Given the description of an element on the screen output the (x, y) to click on. 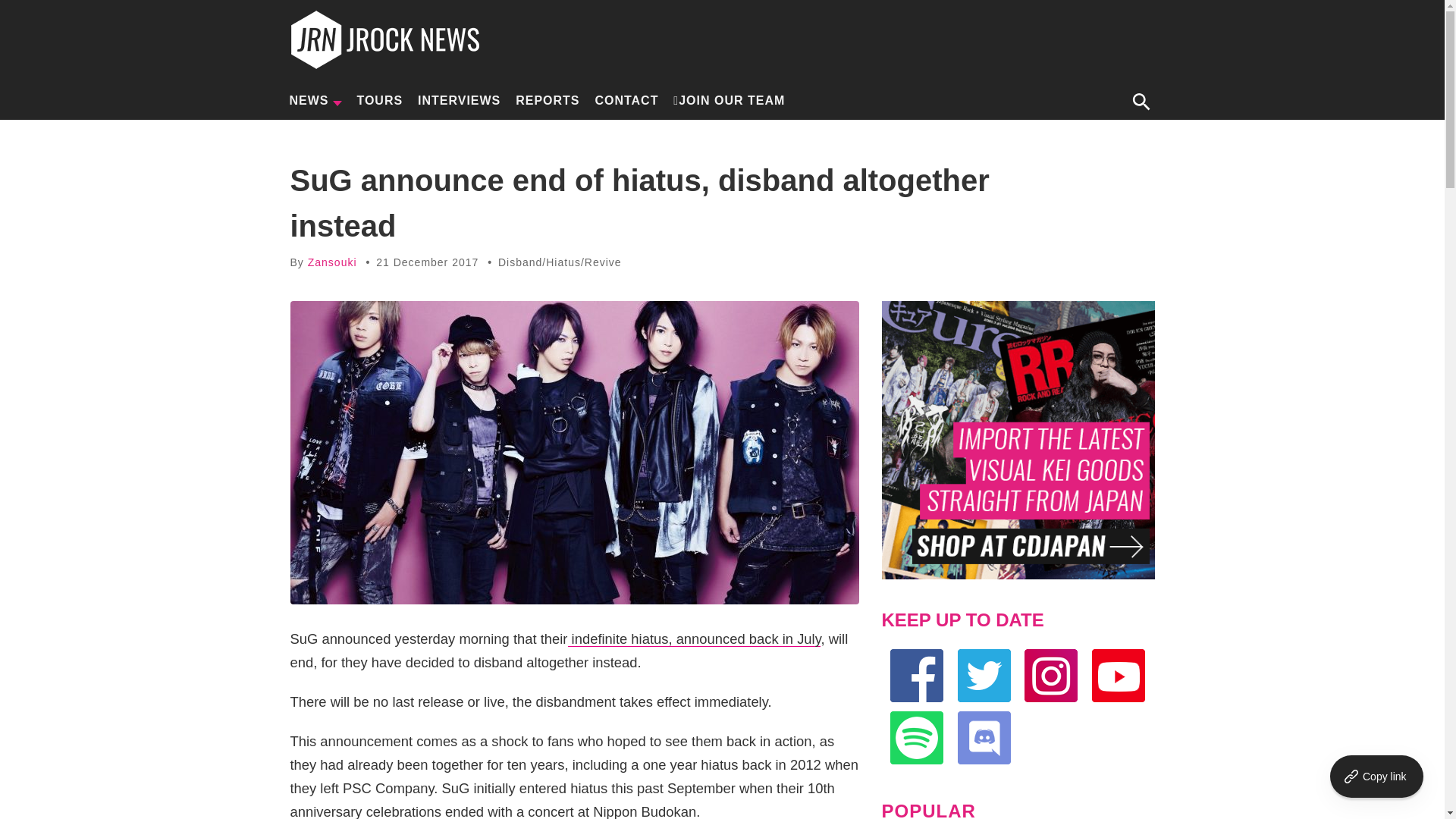
Posts by Zansouki (331, 262)
CONTACT (626, 100)
INTERVIEWS (458, 100)
NEWS (314, 100)
REPORTS (547, 100)
indefinite hiatus, announced back in July (694, 638)
Zansouki (331, 262)
TOURS (379, 100)
